Given the description of an element on the screen output the (x, y) to click on. 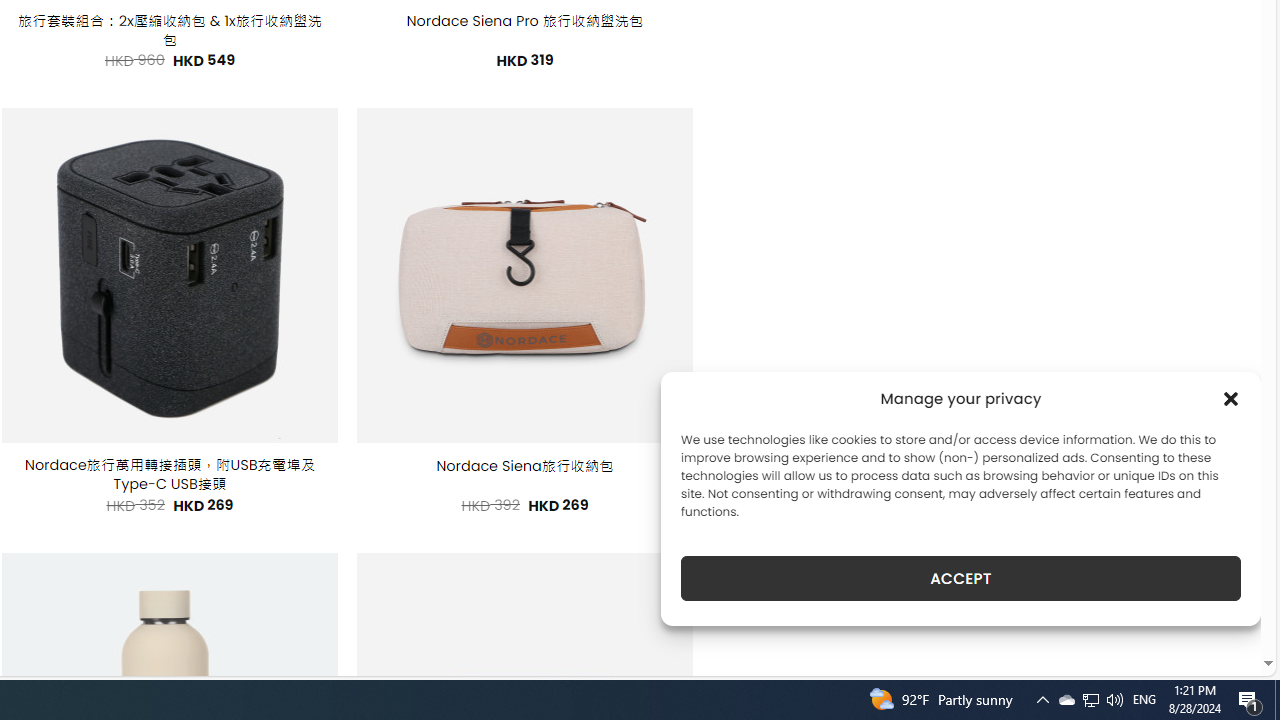
Class: cmplz-close (1231, 398)
ACCEPT (960, 578)
